Given the description of an element on the screen output the (x, y) to click on. 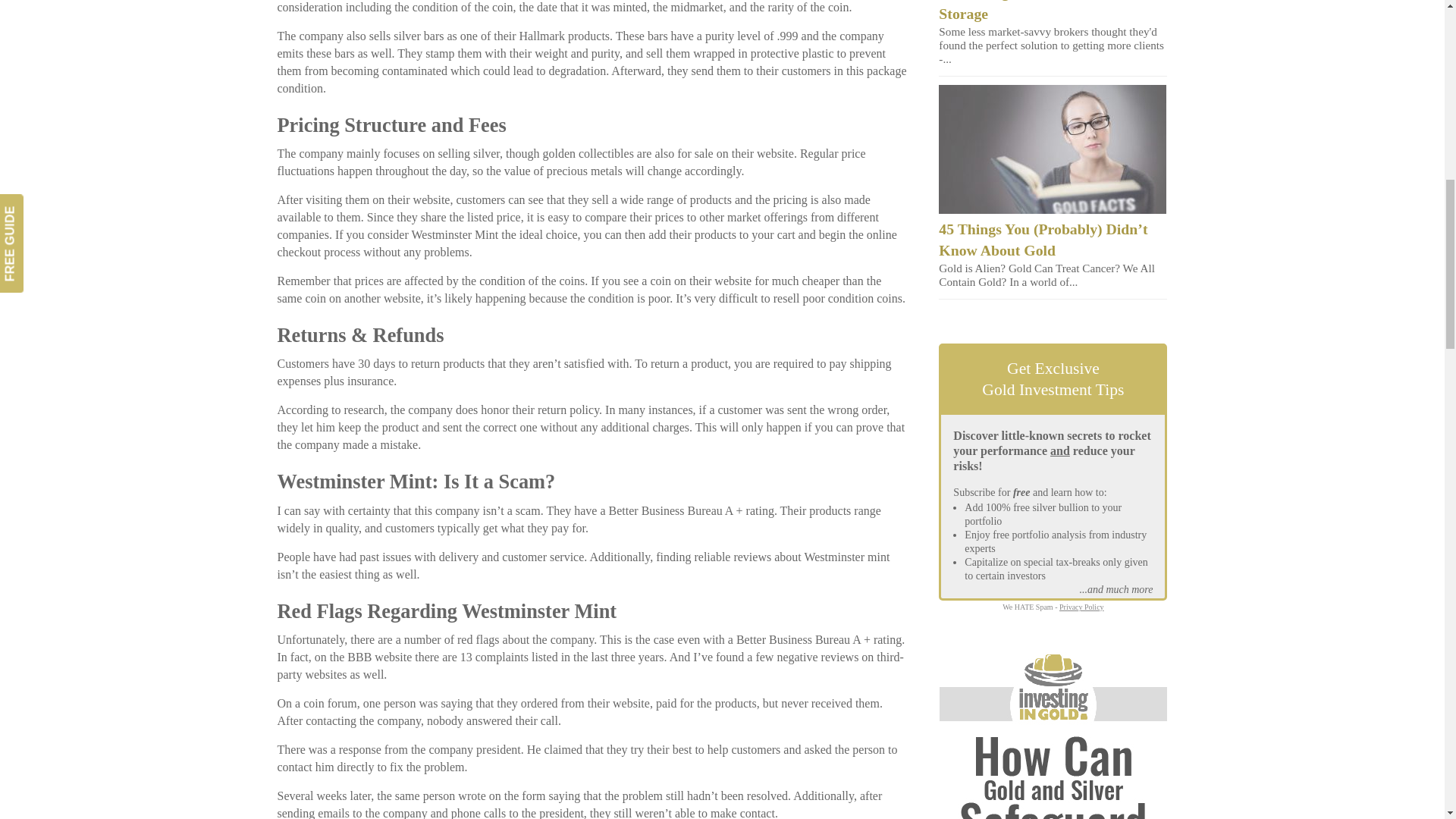
Privacy Policy (1081, 606)
A Warning: Gold IRA Home Storage (1030, 10)
A Warning: Gold IRA Home Storage (1030, 10)
